Given the description of an element on the screen output the (x, y) to click on. 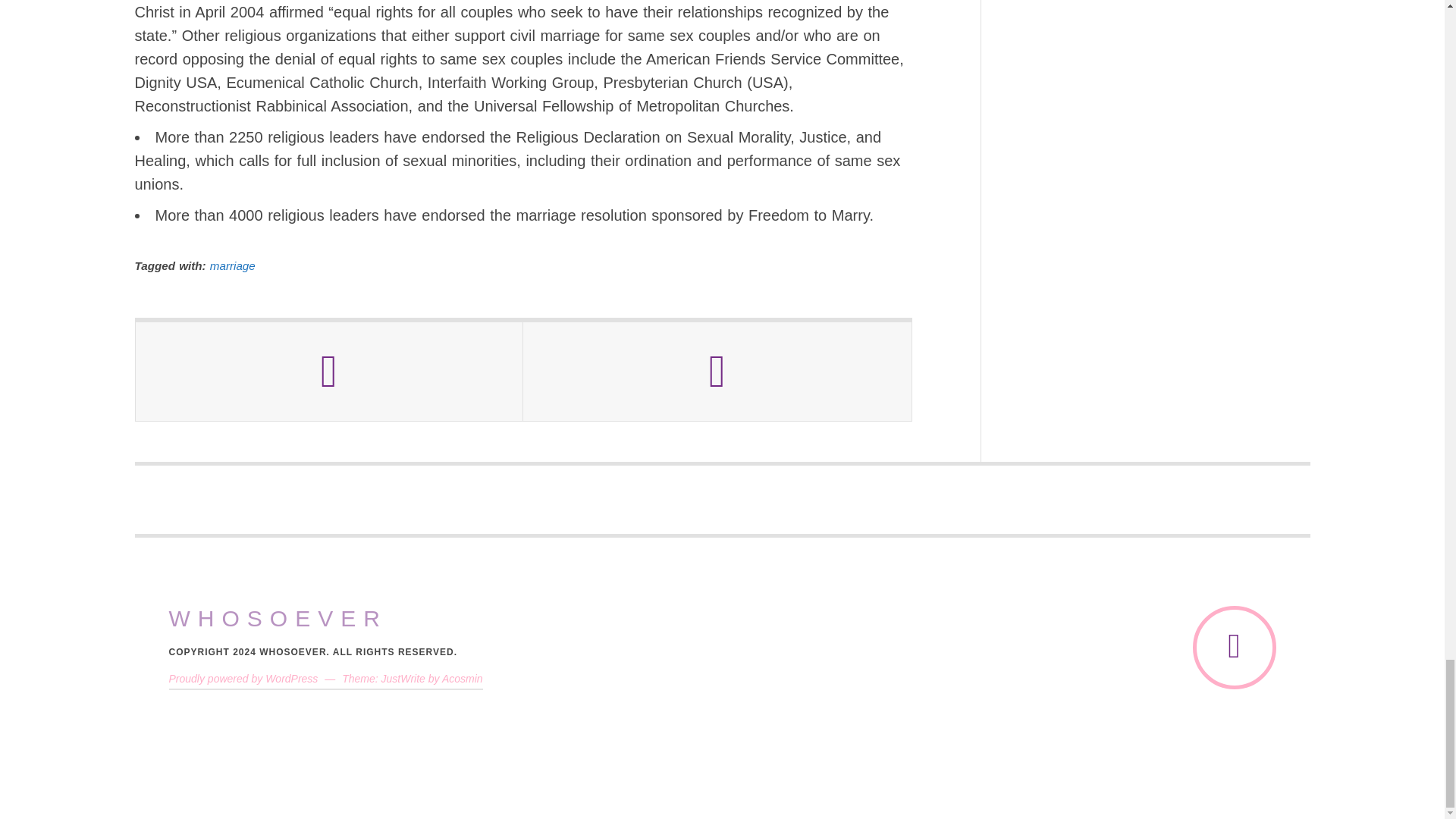
Whosoever (277, 618)
WHOSOEVER (277, 618)
Acosmin (462, 678)
Proudly powered by WordPress (242, 678)
Acosmin (462, 678)
marriage (232, 265)
Next Post (716, 371)
Previous Post (328, 371)
